Given the description of an element on the screen output the (x, y) to click on. 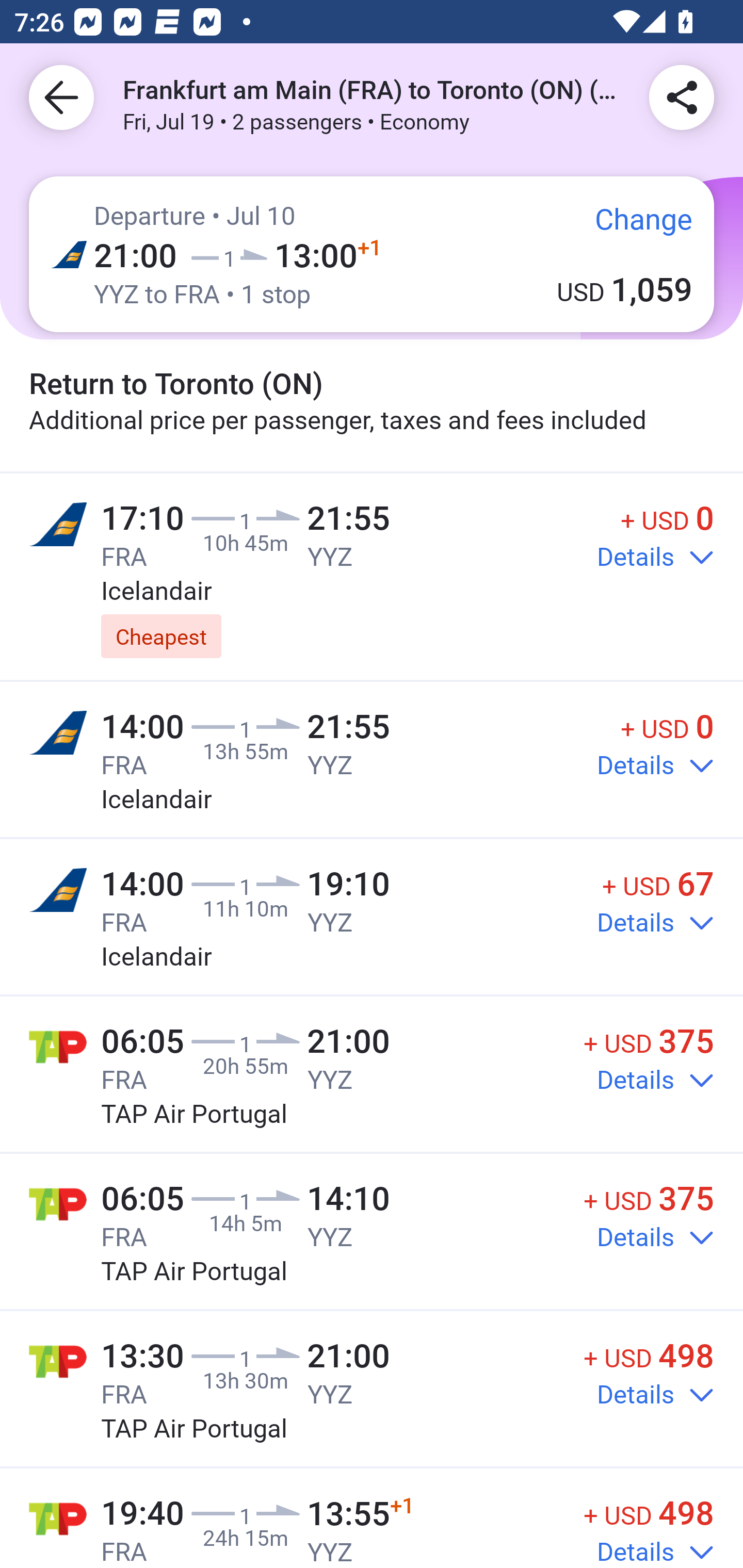
Change (629, 225)
